Given the description of an element on the screen output the (x, y) to click on. 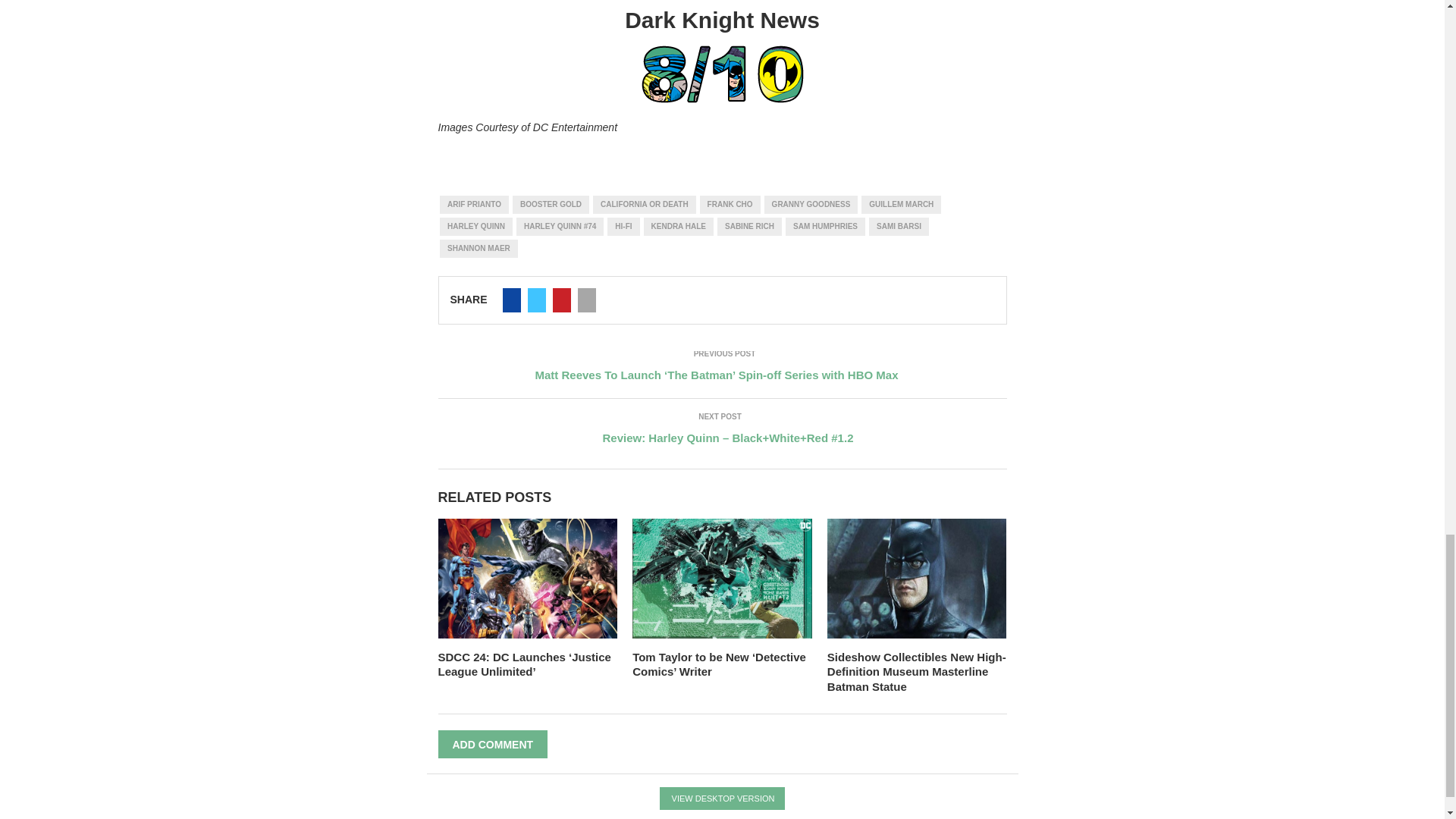
KENDRA HALE (678, 226)
SHANNON MAER (478, 248)
SAM HUMPHRIES (825, 226)
SABINE RICH (749, 226)
FRANK CHO (730, 204)
ADD COMMENT (493, 744)
SAMI BARSI (898, 226)
GRANNY GOODNESS (811, 204)
BOOSTER GOLD (550, 204)
CALIFORNIA OR DEATH (643, 204)
HARLEY QUINN (475, 226)
ARIF PRIANTO (473, 204)
HI-FI (623, 226)
GUILLEM MARCH (900, 204)
